Given the description of an element on the screen output the (x, y) to click on. 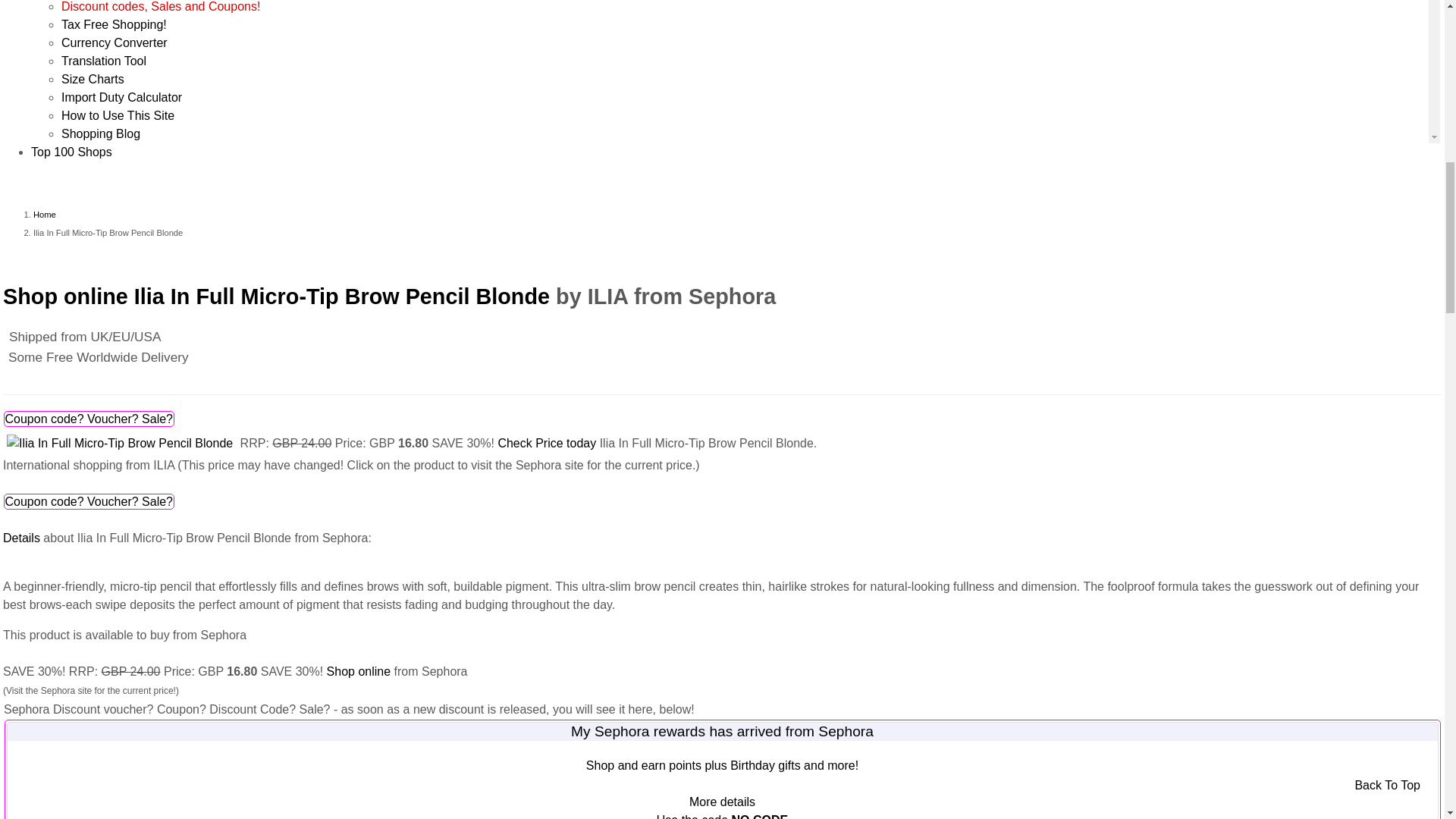
Discount codes, Sales and Coupons! (160, 6)
Currency Converter (114, 42)
Translation Tool (104, 60)
Size Charts (92, 78)
Tax Free Shopping! (114, 24)
